Given the description of an element on the screen output the (x, y) to click on. 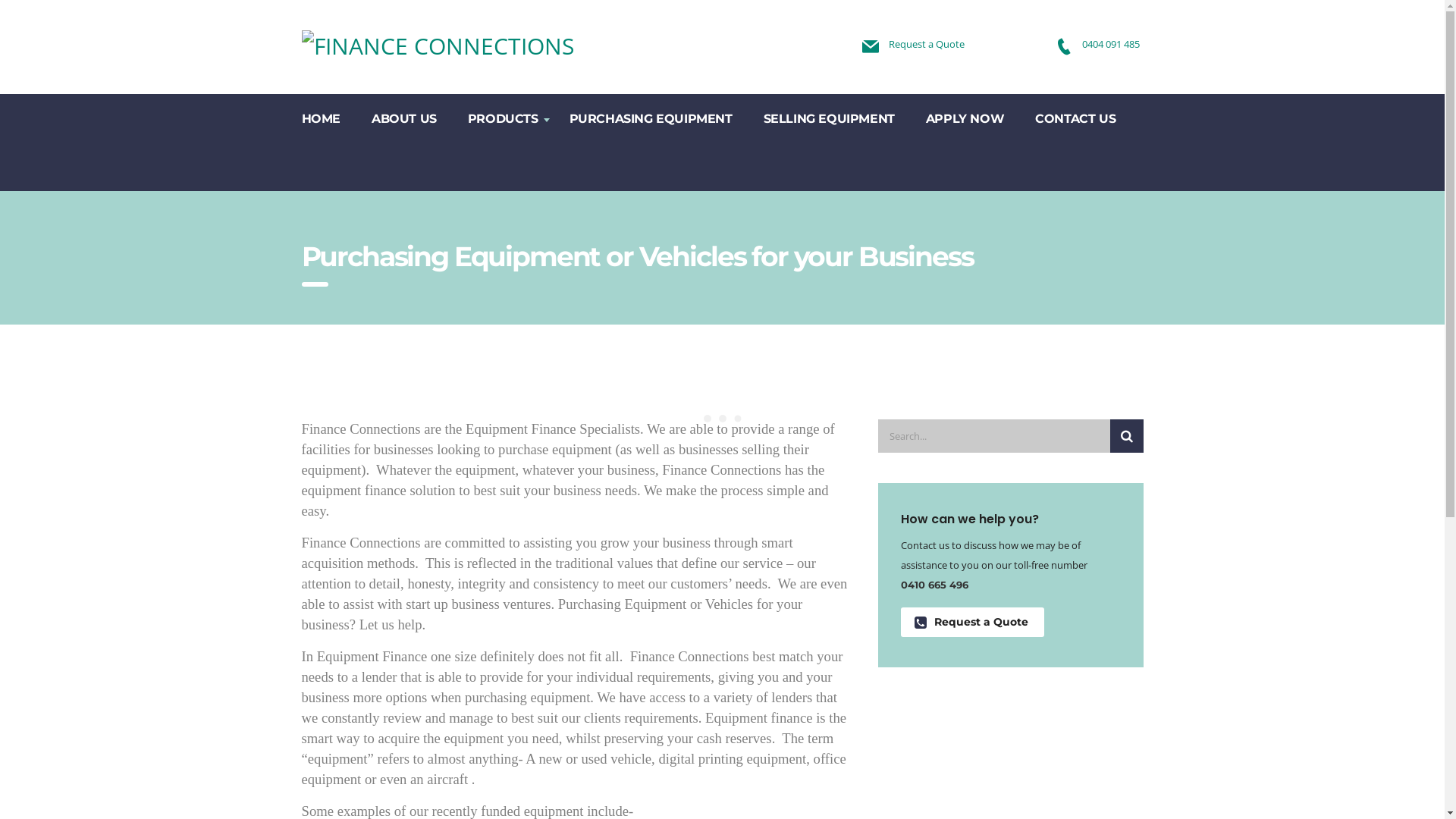
Request a Quote Element type: text (972, 622)
PRODUCTS Element type: text (503, 118)
ABOUT US Element type: text (404, 118)
0404 091 485 Element type: text (1110, 43)
CONTACT US Element type: text (1075, 118)
0410 665 496 Element type: text (934, 584)
APPLY NOW Element type: text (964, 118)
PURCHASING EQUIPMENT Element type: text (651, 118)
HOME Element type: text (321, 118)
SELLING EQUIPMENT Element type: text (829, 118)
Request a Quote Element type: text (926, 43)
